Given the description of an element on the screen output the (x, y) to click on. 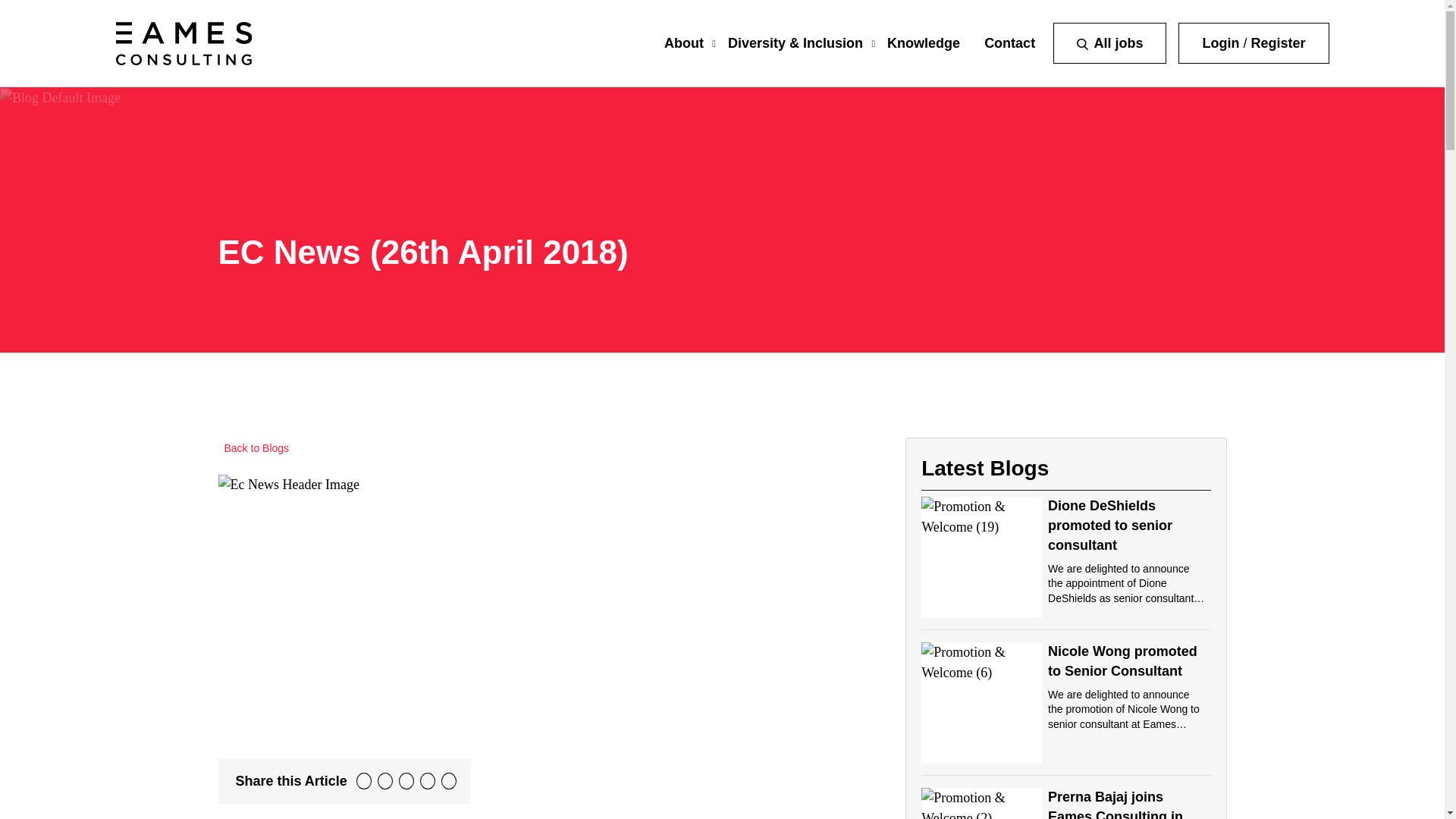
Knowledge (922, 43)
Contact (1009, 43)
search (1082, 43)
About (683, 43)
Login (1220, 43)
search All jobs (1109, 42)
Dione DeShields promoted to senior consultant (1110, 524)
Back to Blogs (253, 448)
Nicole Wong promoted to Senior Consultant (1122, 660)
Register (1277, 43)
